Given the description of an element on the screen output the (x, y) to click on. 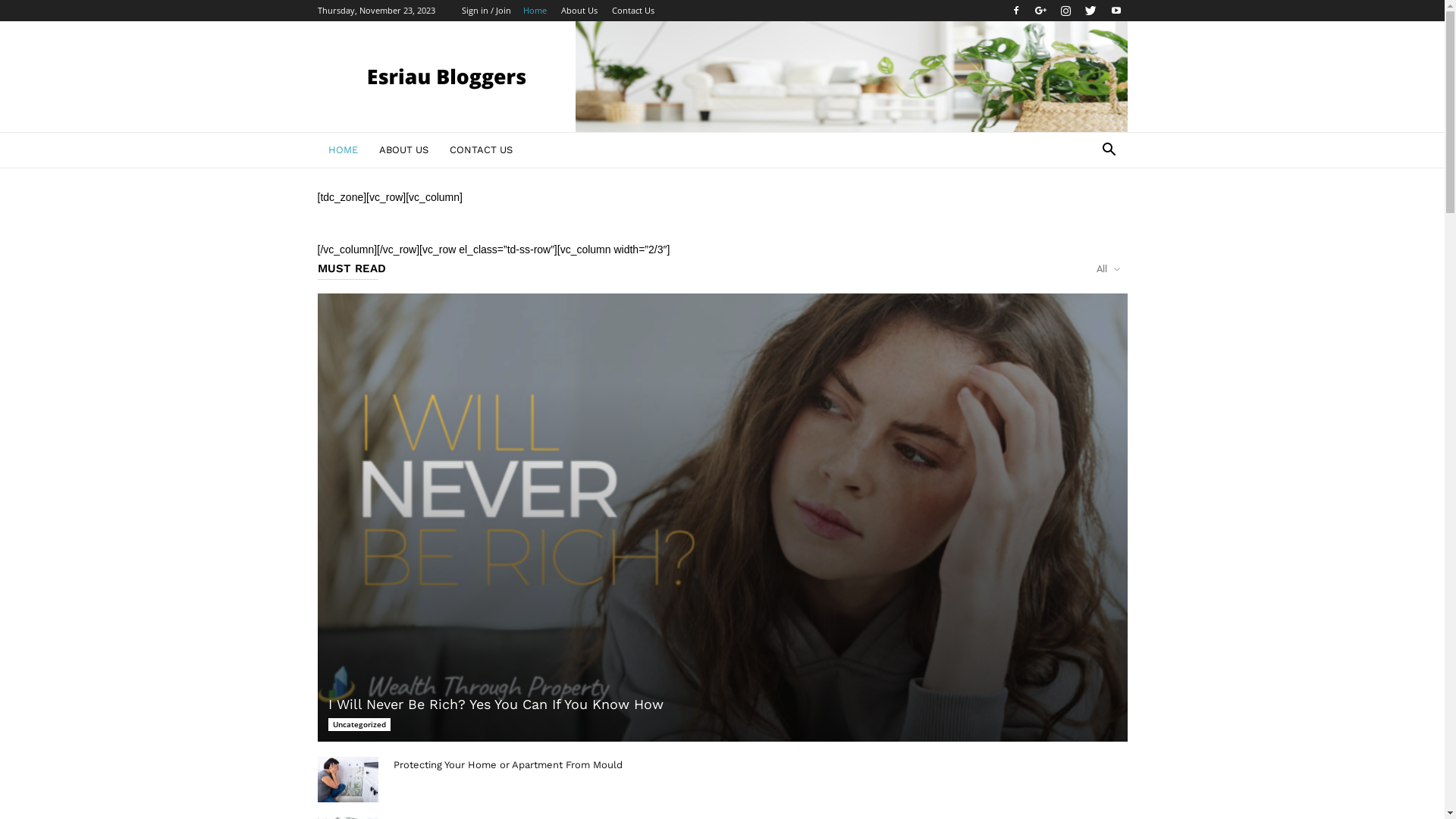
Search Element type: text (1085, 210)
I Will Never Be Rich? Yes You Can If You Know How Element type: hover (721, 517)
HOME Element type: text (341, 149)
I Will Never Be Rich? Yes You Can If You Know How Element type: text (494, 704)
About Us Element type: text (579, 9)
Instagram Element type: hover (1065, 10)
ABOUT US Element type: text (403, 149)
CONTACT US Element type: text (480, 149)
Google+ Element type: hover (1040, 10)
Contact Us Element type: text (632, 9)
Protecting Your Home or Apartment From Mould Element type: hover (346, 779)
Youtube Element type: hover (1115, 10)
Facebook Element type: hover (1015, 10)
Home Element type: text (534, 9)
Twitter Element type: hover (1090, 10)
Protecting Your Home or Apartment From Mould Element type: text (506, 764)
Uncategorized Element type: text (358, 724)
Sign in / Join Element type: text (485, 9)
